Given the description of an element on the screen output the (x, y) to click on. 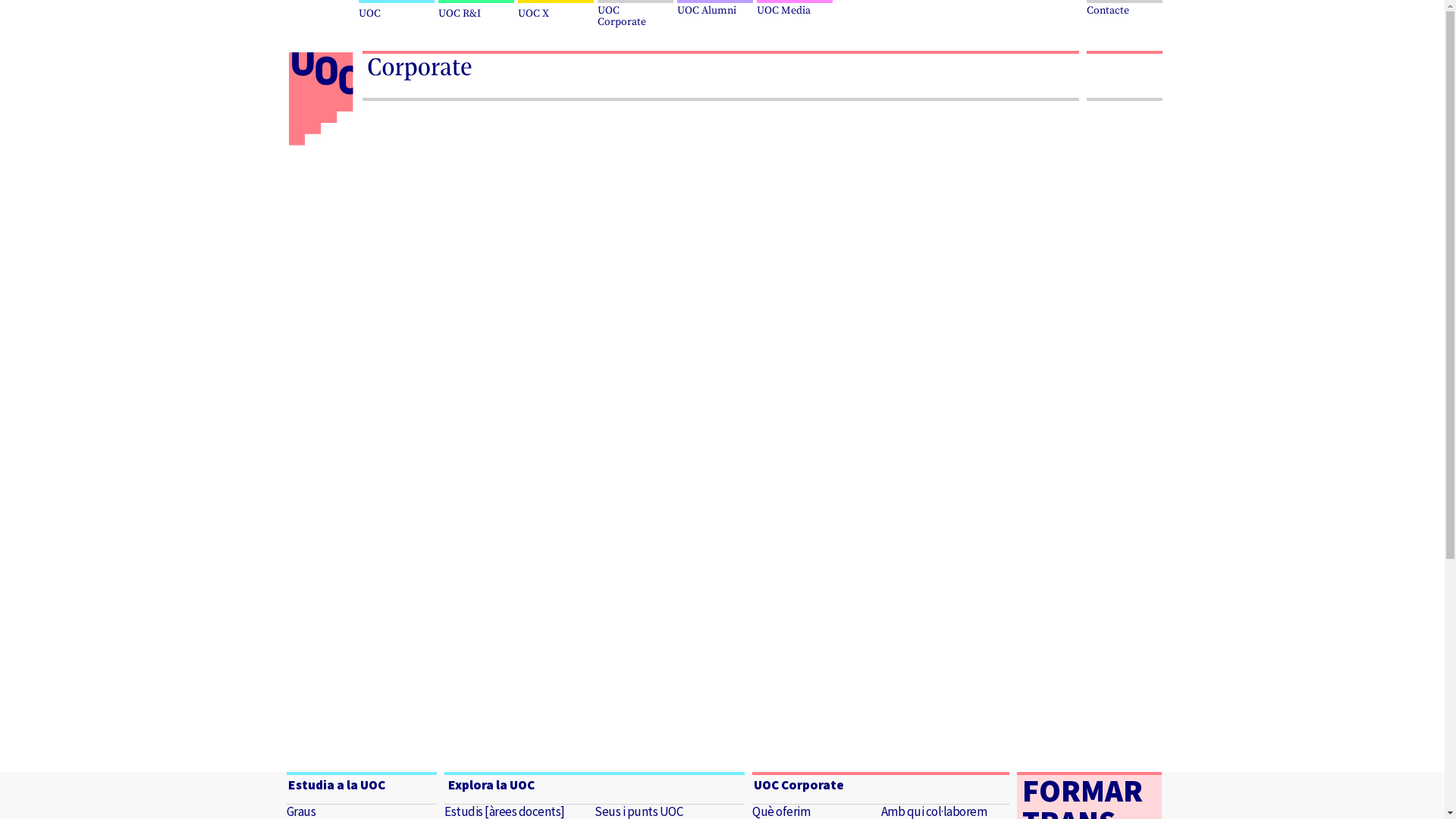
UOC R&I Element type: text (477, 10)
UOC X Element type: text (556, 10)
UOC Alumni Element type: text (716, 8)
UOC
Corporate Element type: text (637, 14)
UOC Media Element type: text (796, 8)
Contacte Element type: text (1123, 8)
UOC Element type: text (397, 10)
